Given the description of an element on the screen output the (x, y) to click on. 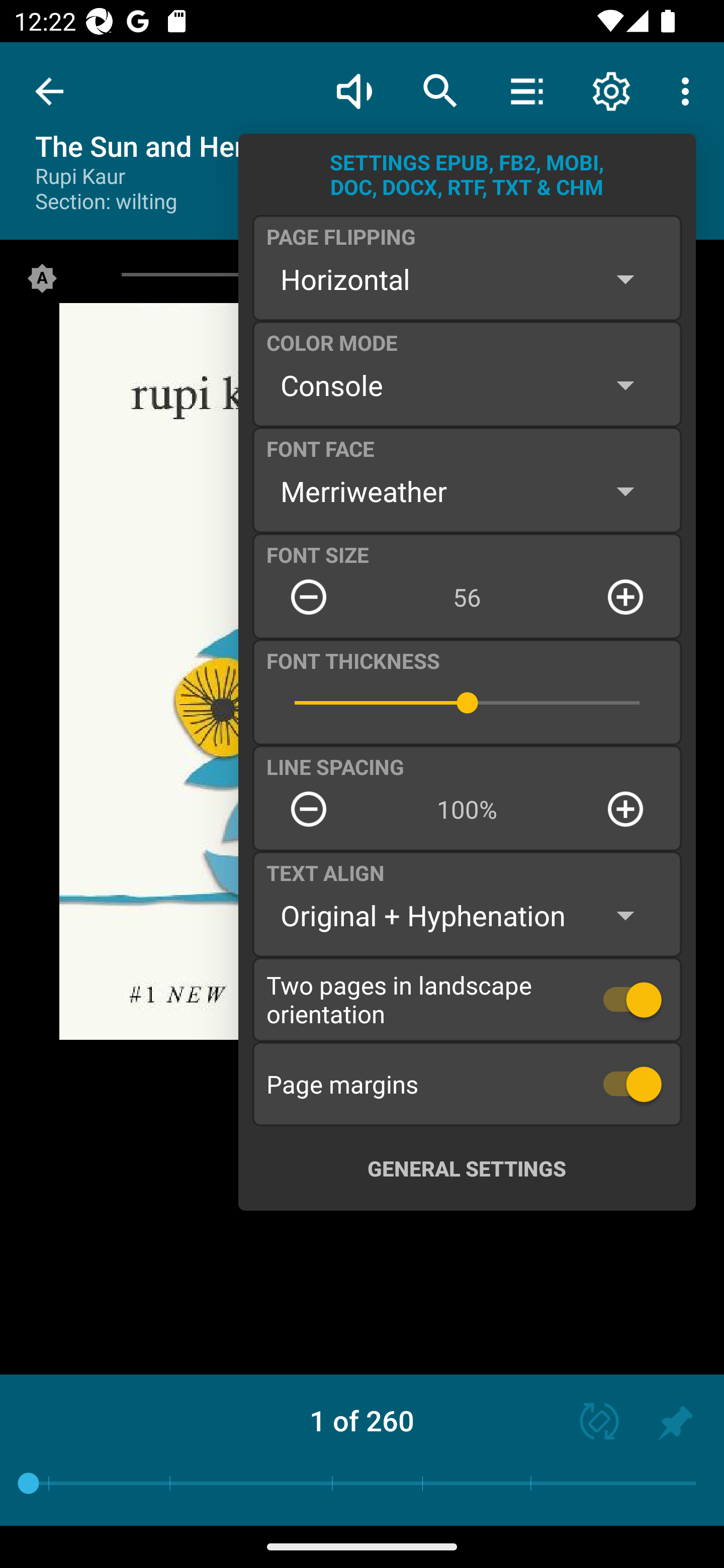
Horizontal (466, 278)
Console (466, 384)
Merriweather (466, 490)
Original + Hyphenation (466, 915)
Two pages in landscape orientation (467, 999)
Page margins (467, 1083)
GENERAL SETTINGS (466, 1167)
